Given the description of an element on the screen output the (x, y) to click on. 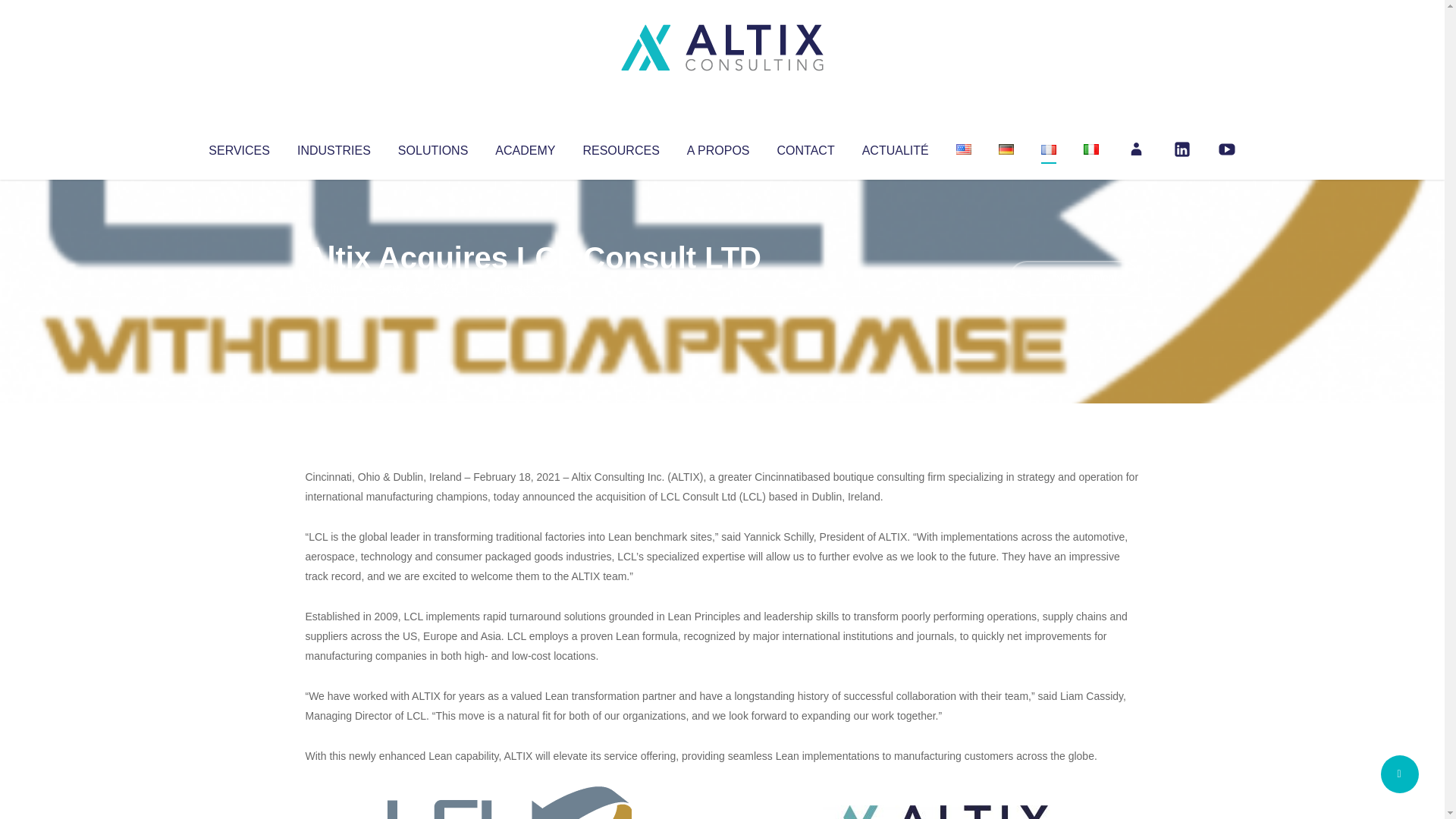
INDUSTRIES (334, 146)
RESOURCES (620, 146)
Articles par Altix (333, 287)
ACADEMY (524, 146)
Altix (333, 287)
A PROPOS (718, 146)
No Comments (1073, 278)
SERVICES (238, 146)
Uncategorized (530, 287)
SOLUTIONS (432, 146)
